Given the description of an element on the screen output the (x, y) to click on. 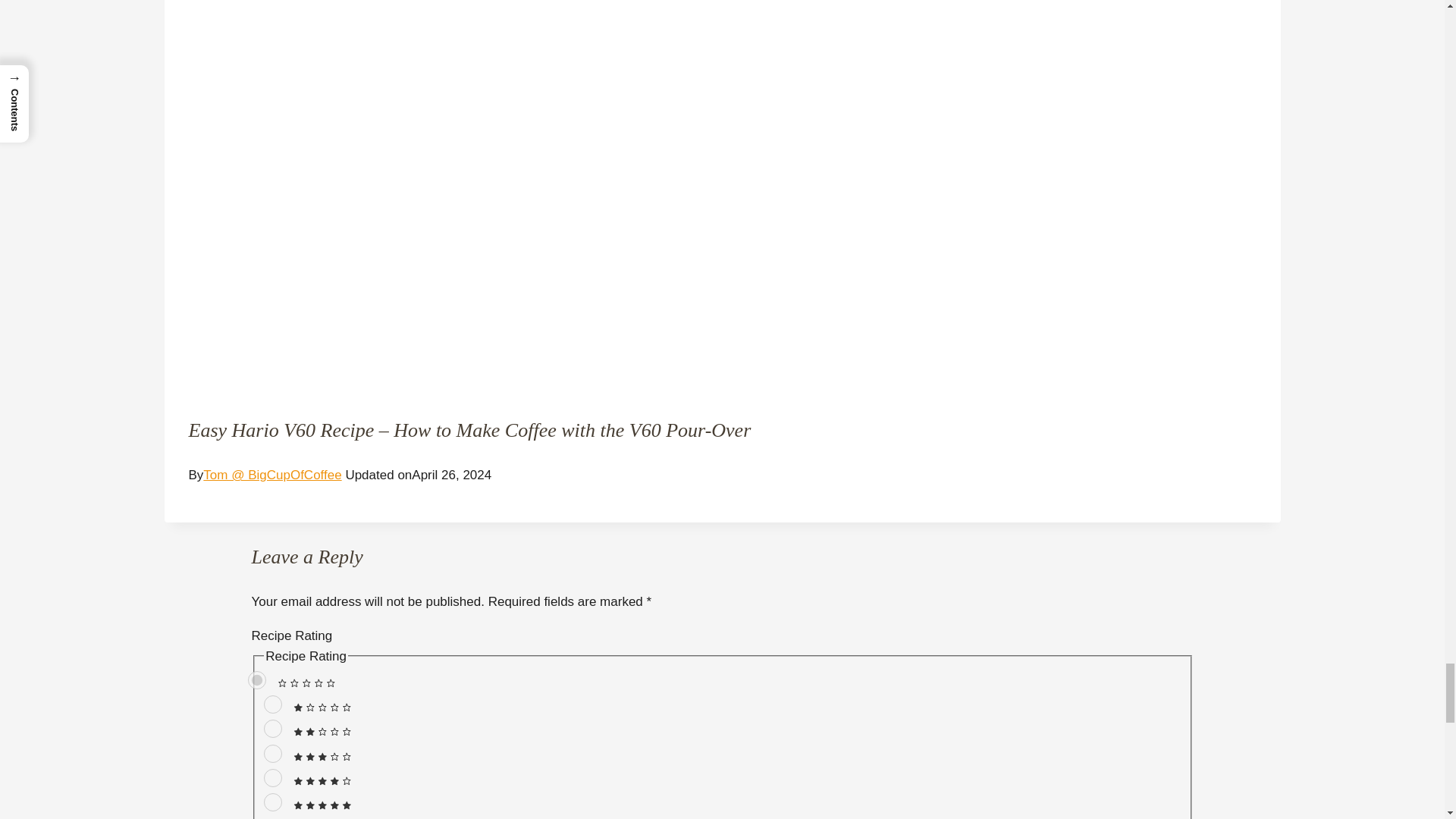
1 (272, 704)
4 (272, 778)
5 (272, 802)
2 (272, 728)
3 (272, 753)
0 (256, 679)
